Given the description of an element on the screen output the (x, y) to click on. 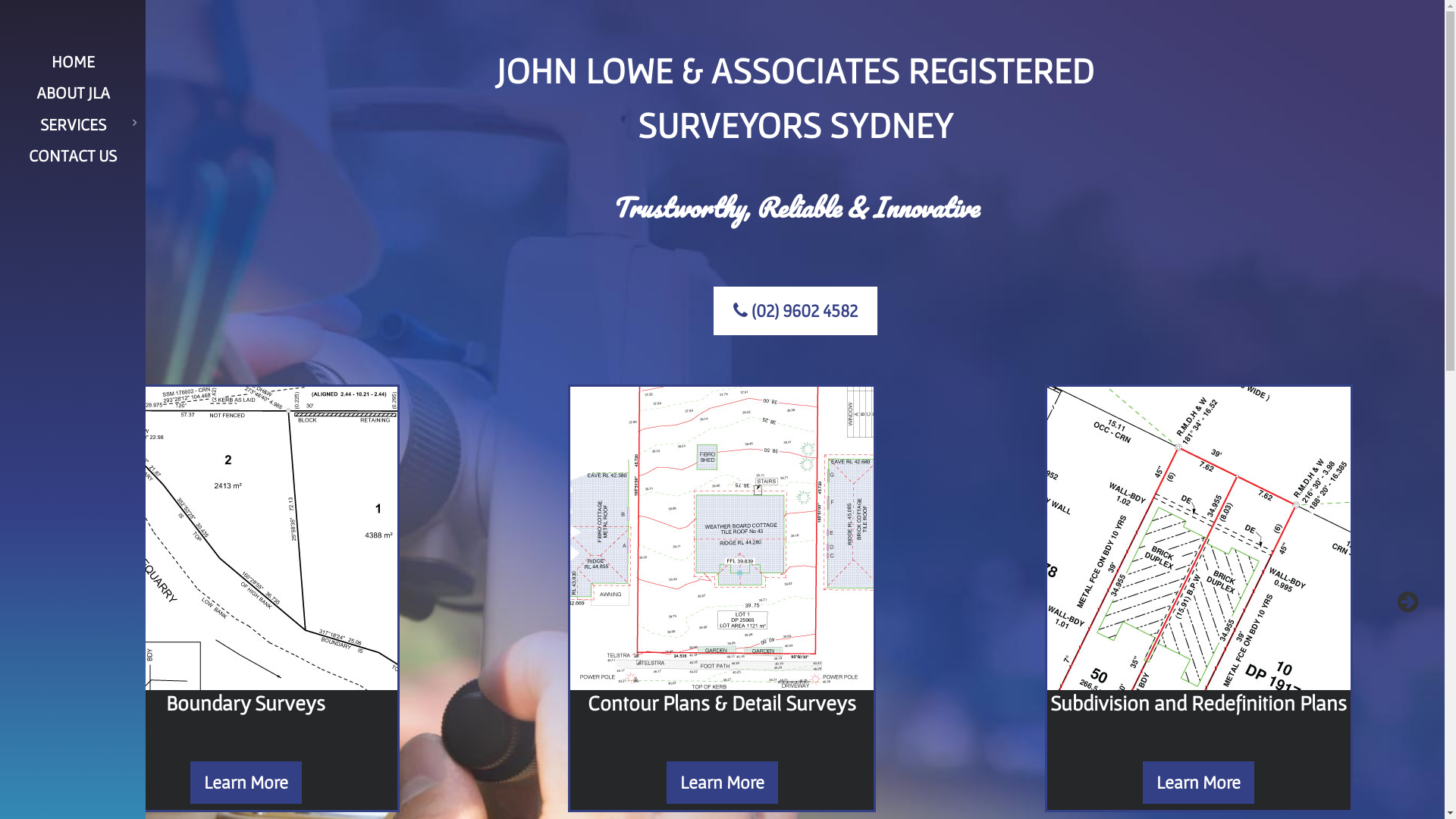
SERVICES Element type: text (72, 124)
Learn More Element type: text (1198, 782)
CONTACT US Element type: text (72, 155)
HOME Element type: text (72, 61)
(02) 9602 4582 Element type: text (794, 310)
ABOUT JLA Element type: text (72, 93)
Learn More Element type: text (245, 782)
Learn More Element type: text (722, 782)
